Given the description of an element on the screen output the (x, y) to click on. 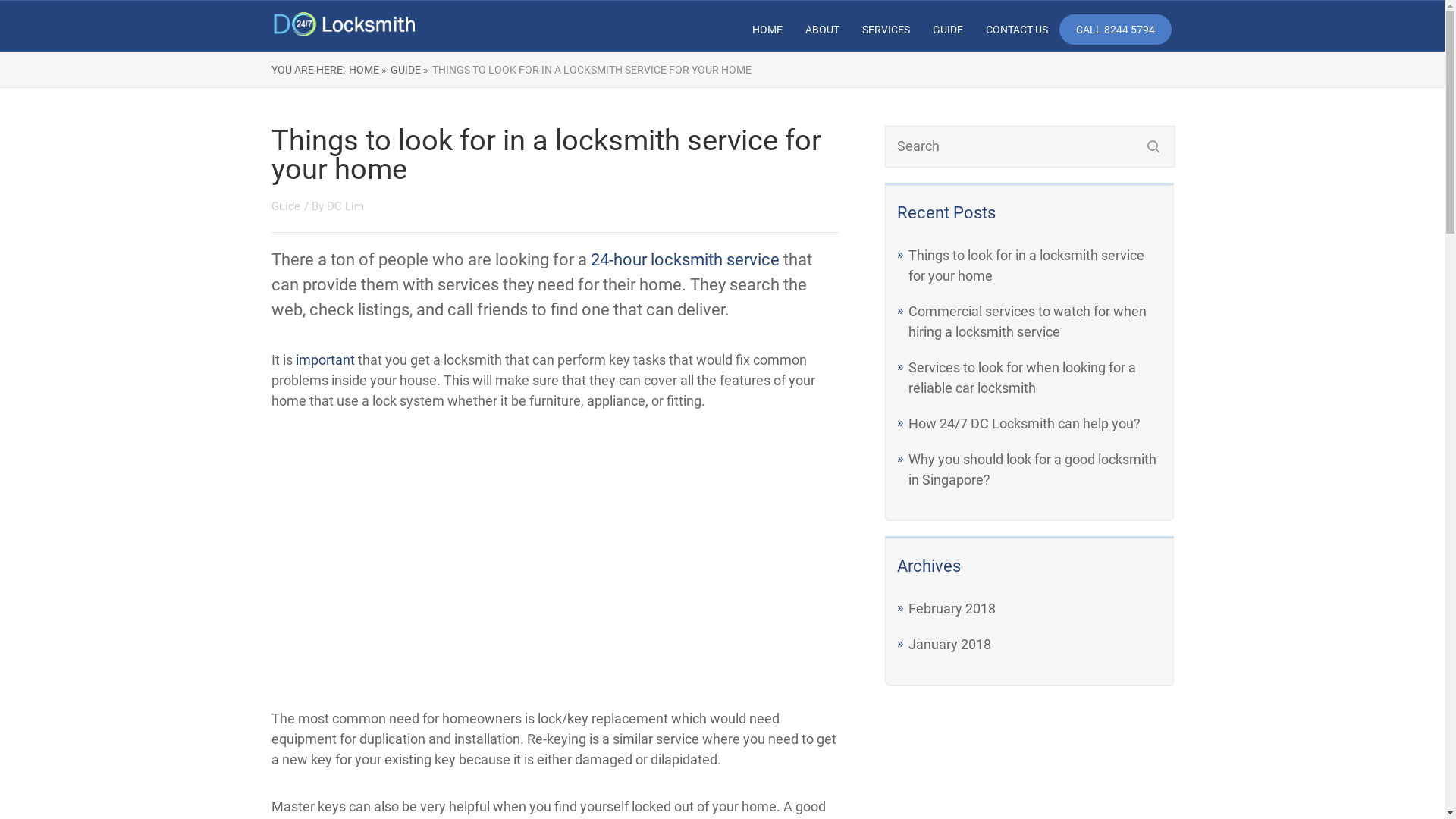
Guide Element type: text (285, 206)
ABOUT Element type: text (822, 29)
important Element type: text (324, 359)
CONTACT US Element type: text (1016, 29)
HOME Element type: text (767, 29)
SERVICES Element type: text (886, 29)
Things to look for in a locksmith service for your home Element type: text (1026, 265)
GUIDE Element type: text (947, 29)
January 2018 Element type: text (949, 644)
How 24/7 DC Locksmith can help you? Element type: text (1024, 423)
DC Lim Element type: text (344, 206)
Why you should look for a good locksmith in Singapore? Element type: text (1032, 469)
February 2018 Element type: text (951, 608)
CALL 8244 5794 Element type: text (1115, 29)
24-hour locksmith service Element type: text (683, 259)
